Given the description of an element on the screen output the (x, y) to click on. 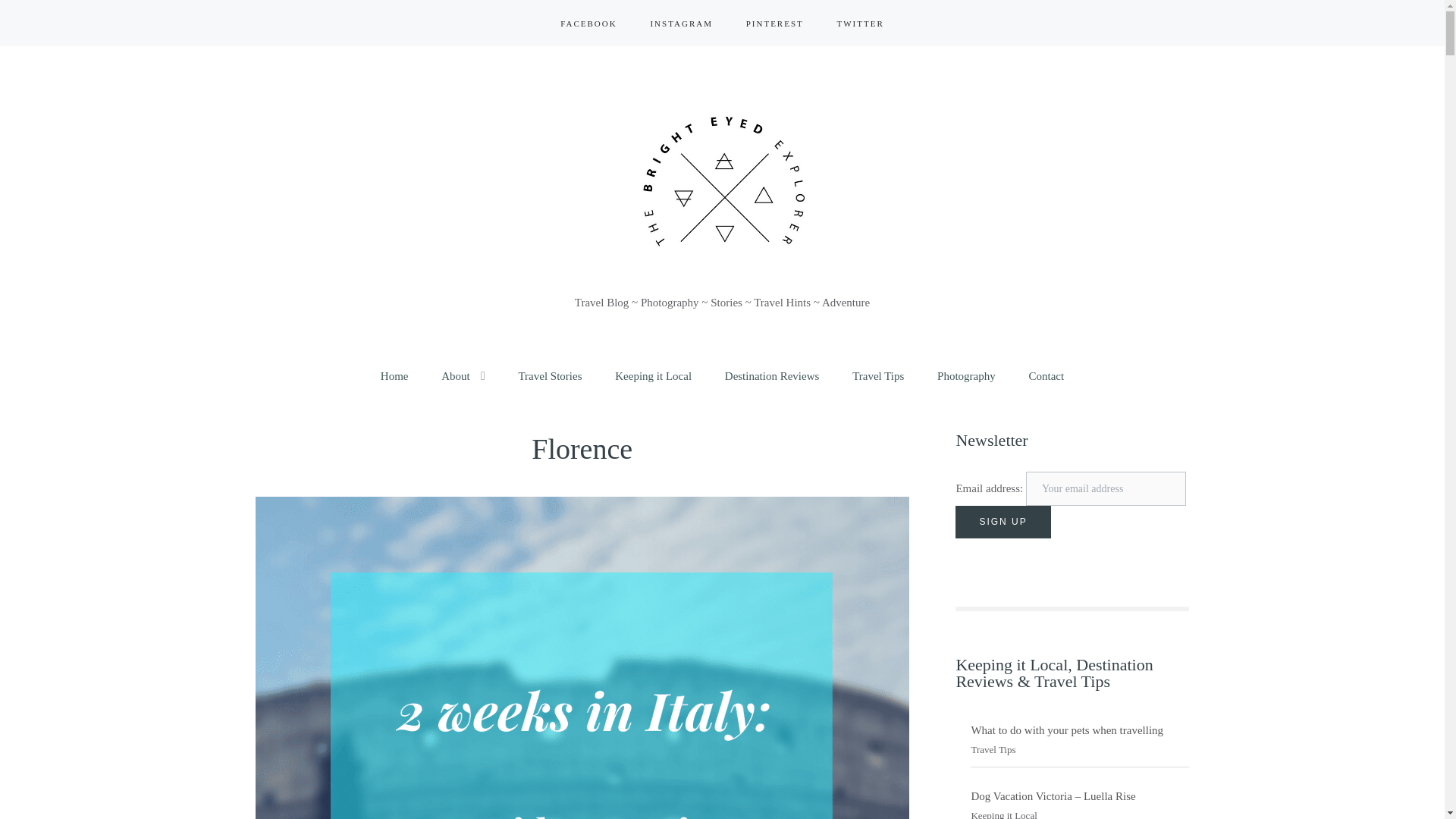
Travel Stories (549, 376)
Photography (966, 376)
Keeping it Local (652, 376)
INSTAGRAM (681, 22)
Home (394, 376)
Travel Tips (877, 376)
What to do with your pets when travelling (1067, 729)
Contact (1046, 376)
About (455, 376)
FACEBOOK (587, 22)
PINTEREST (774, 22)
TWITTER (860, 22)
Destination Reviews (772, 376)
Sign up (1002, 522)
